Given the description of an element on the screen output the (x, y) to click on. 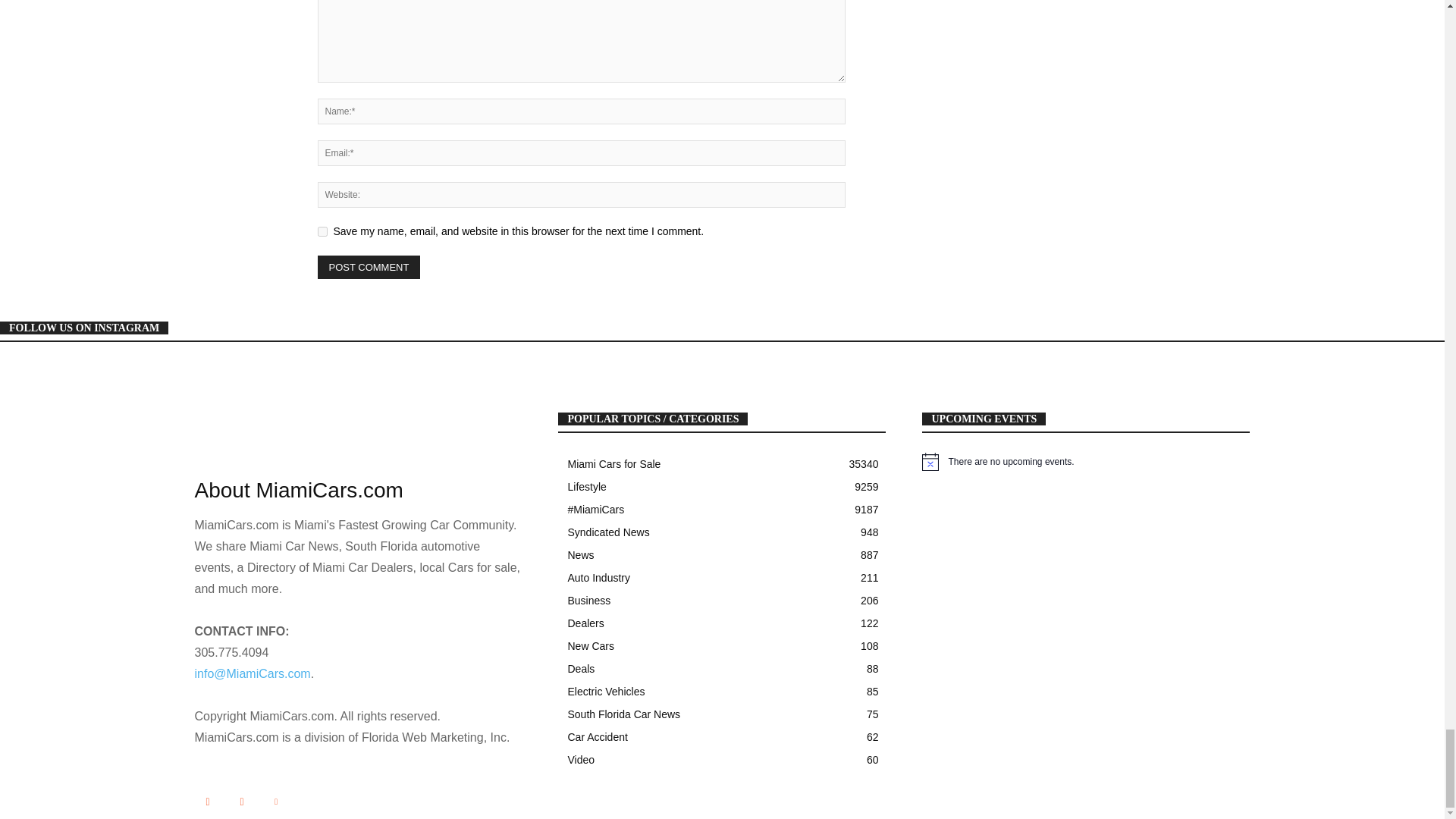
yes (321, 231)
Post Comment (368, 267)
